Given the description of an element on the screen output the (x, y) to click on. 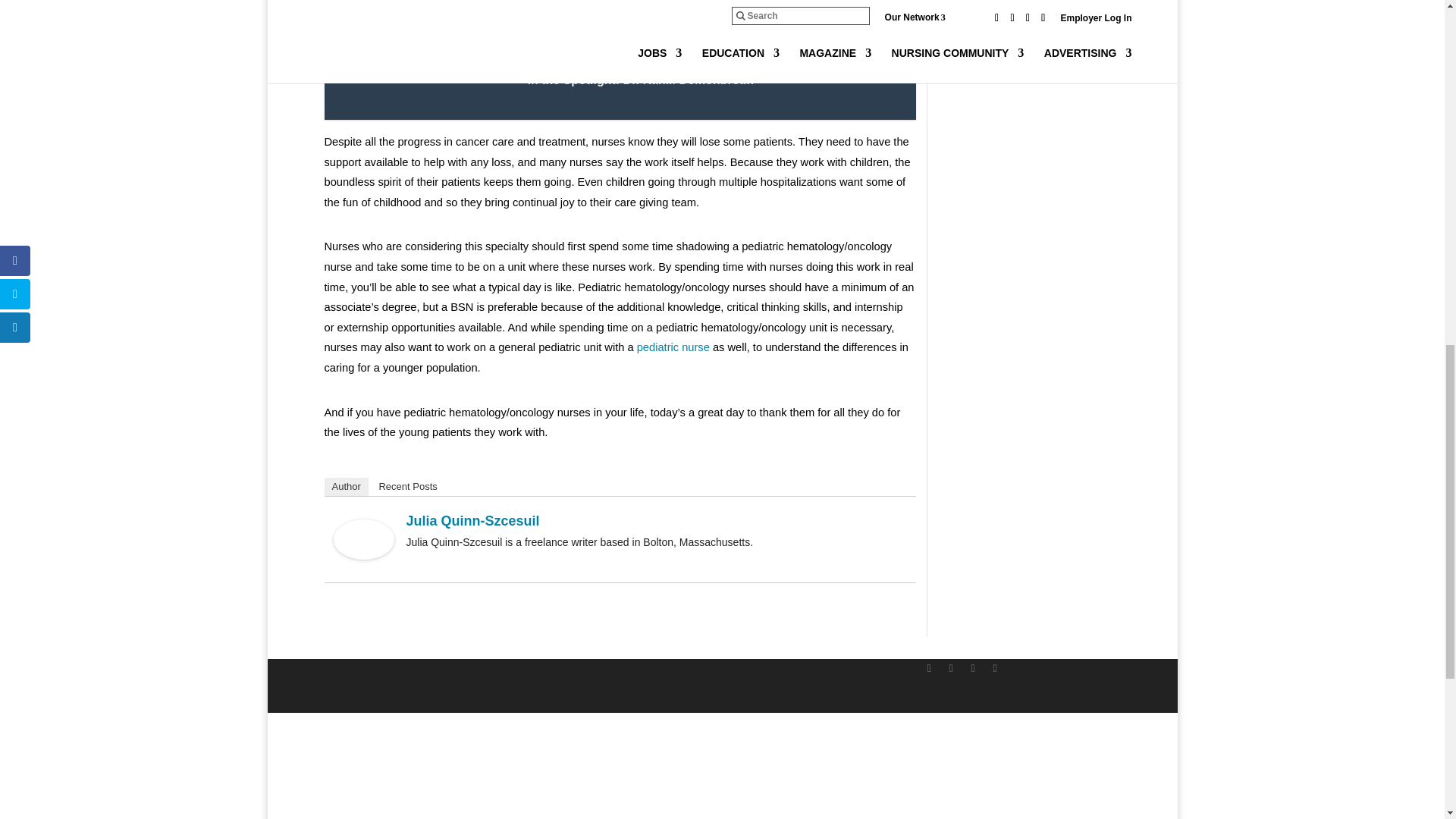
Springer Publishing Company (376, 777)
